Given the description of an element on the screen output the (x, y) to click on. 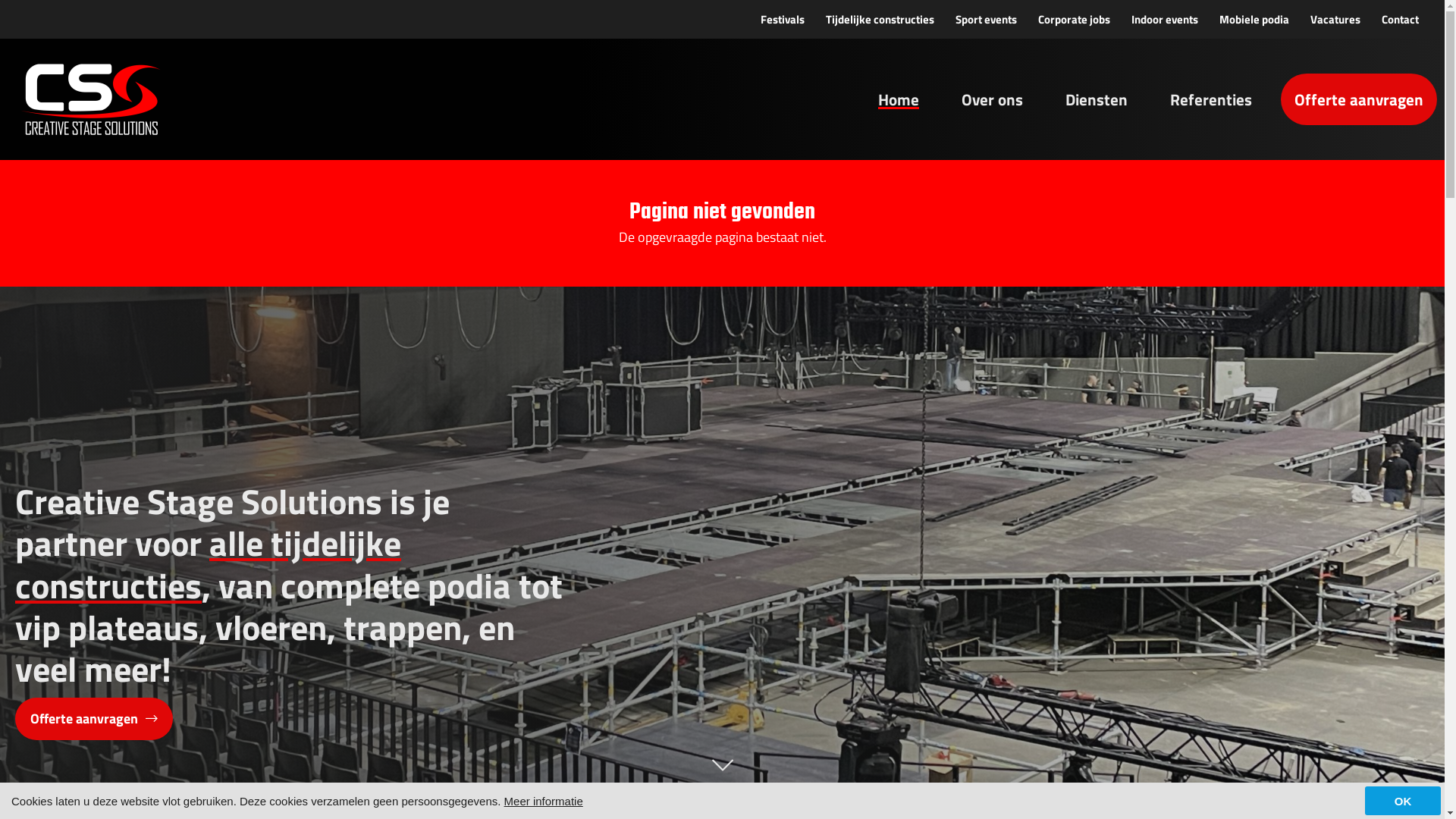
Creative Stage Solutions Element type: hover (94, 98)
Mobiele podia Element type: text (1253, 19)
Tijdelijke constructies Element type: text (879, 19)
Festivals Element type: text (782, 19)
Diensten Element type: text (1096, 99)
Meer informatie Element type: text (543, 800)
alle tijdelijke constructies Element type: text (208, 563)
Over ons Element type: text (991, 99)
OK Element type: text (1402, 800)
Creative Stage Solutions Element type: hover (94, 99)
Home Element type: text (898, 99)
Contact Element type: text (1400, 19)
Corporate jobs Element type: text (1073, 19)
Vacatures Element type: text (1335, 19)
Offerte aanvragen Element type: text (1358, 99)
Referenties Element type: text (1210, 99)
Offerte aanvragen Element type: text (93, 718)
Indoor events Element type: text (1164, 19)
Sport events Element type: text (985, 19)
